Given the description of an element on the screen output the (x, y) to click on. 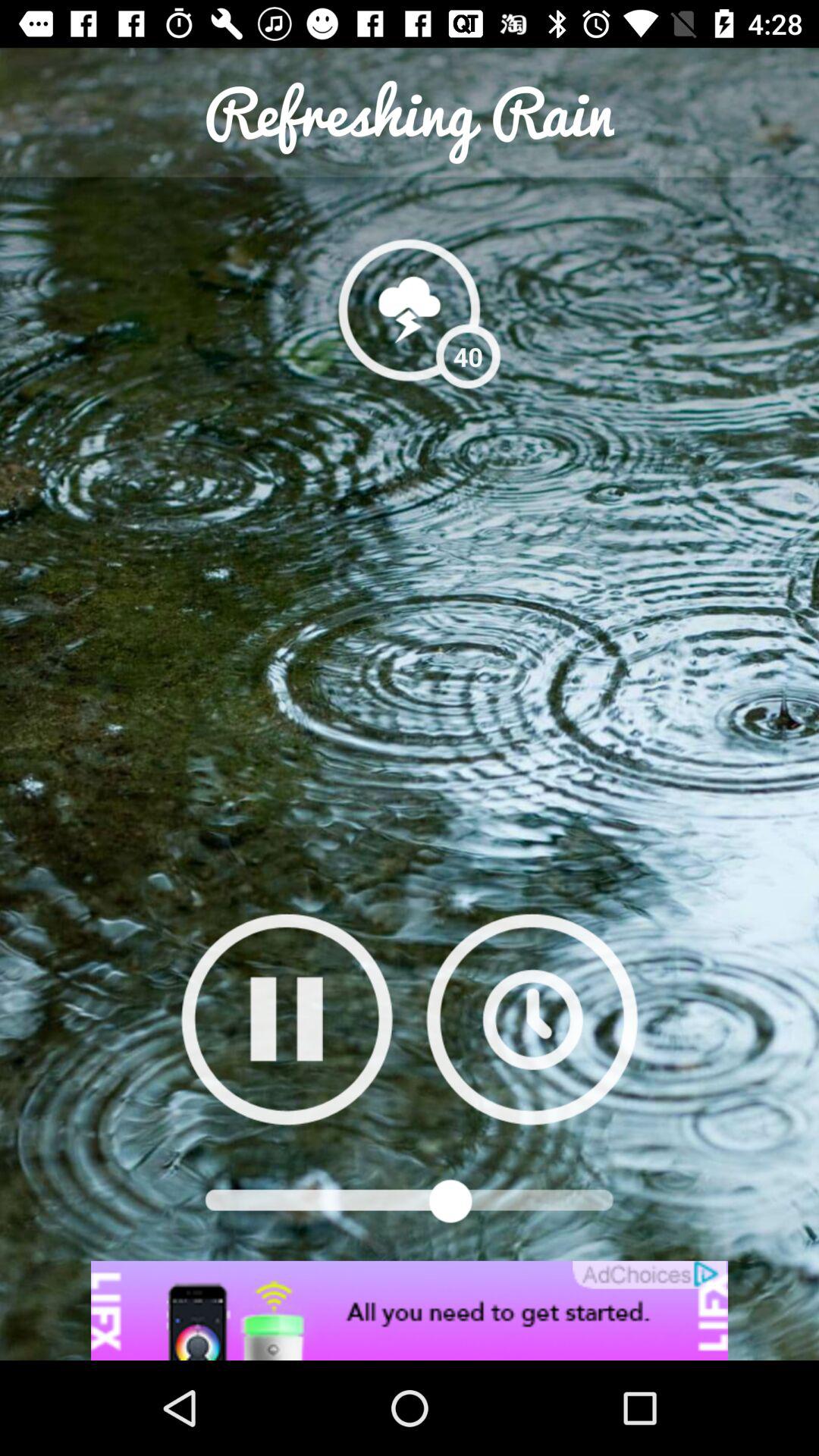
pause (286, 1018)
